Given the description of an element on the screen output the (x, y) to click on. 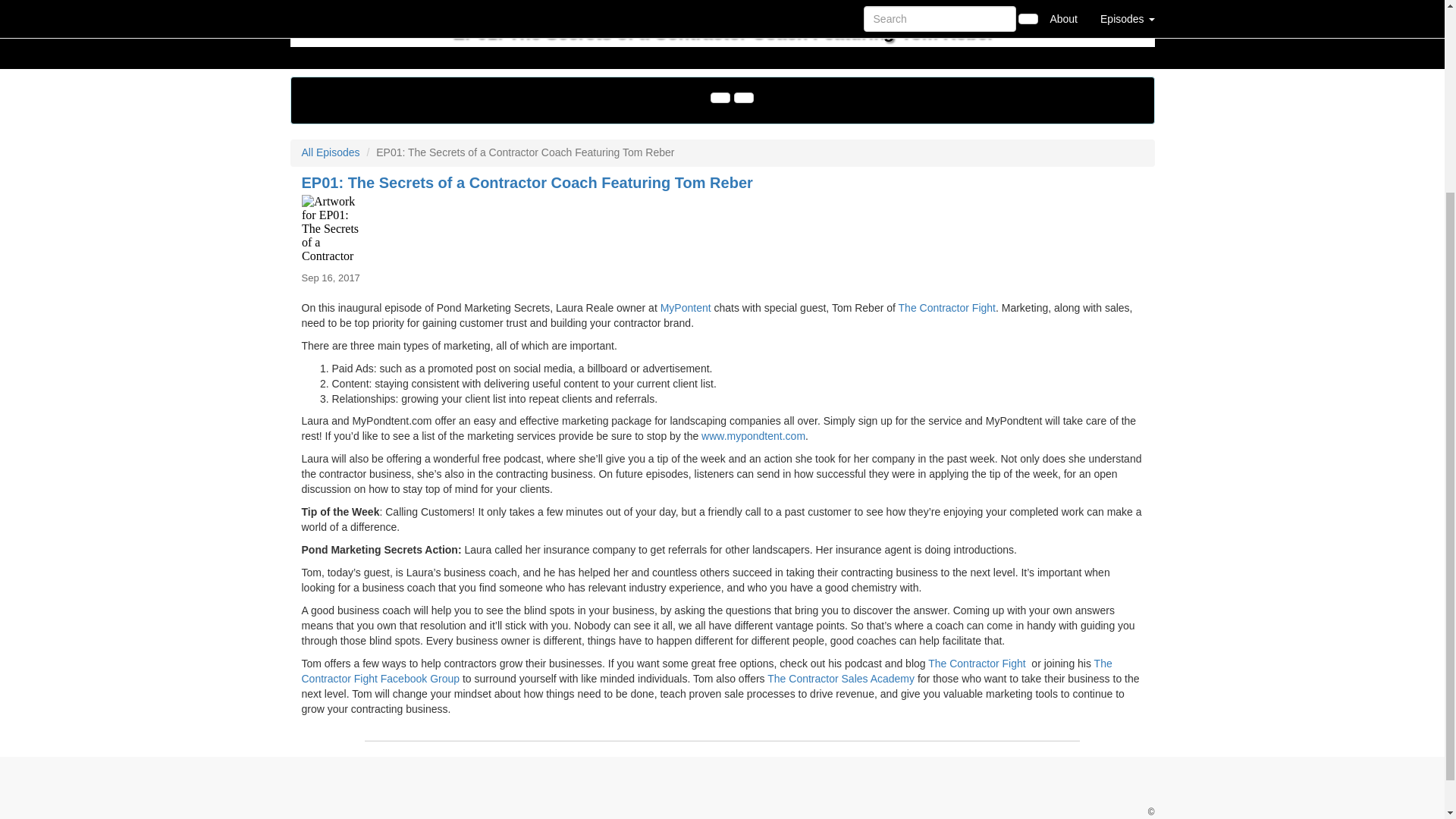
EP01: The Secrets of a Contractor Coach Featuring Tom Reber (721, 228)
